Given the description of an element on the screen output the (x, y) to click on. 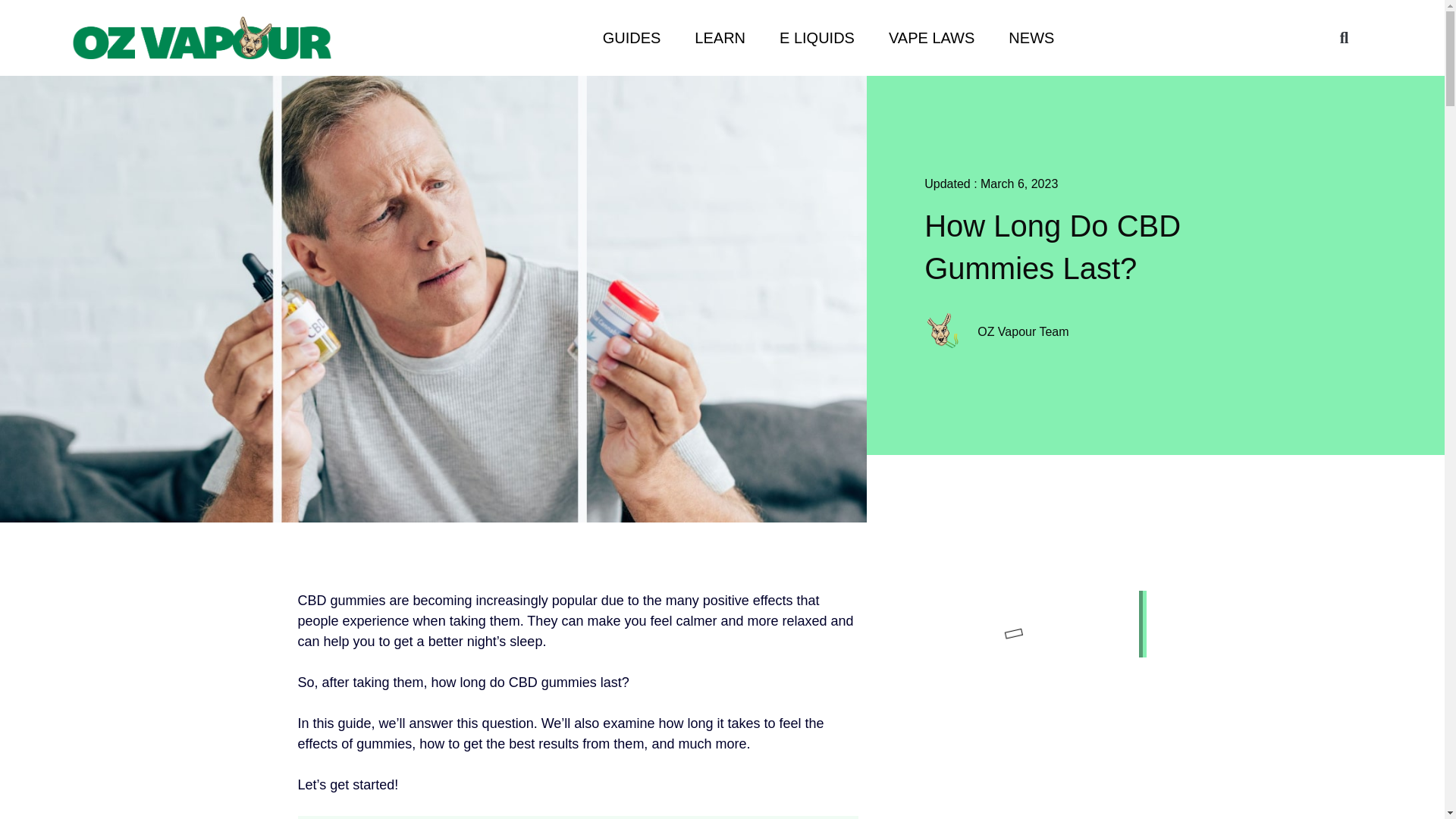
E LIQUIDS (816, 37)
LEARN (719, 37)
OZ Vapour Team (1123, 331)
NEWS (1030, 37)
GUIDES (632, 37)
VAPE LAWS (931, 37)
